Given the description of an element on the screen output the (x, y) to click on. 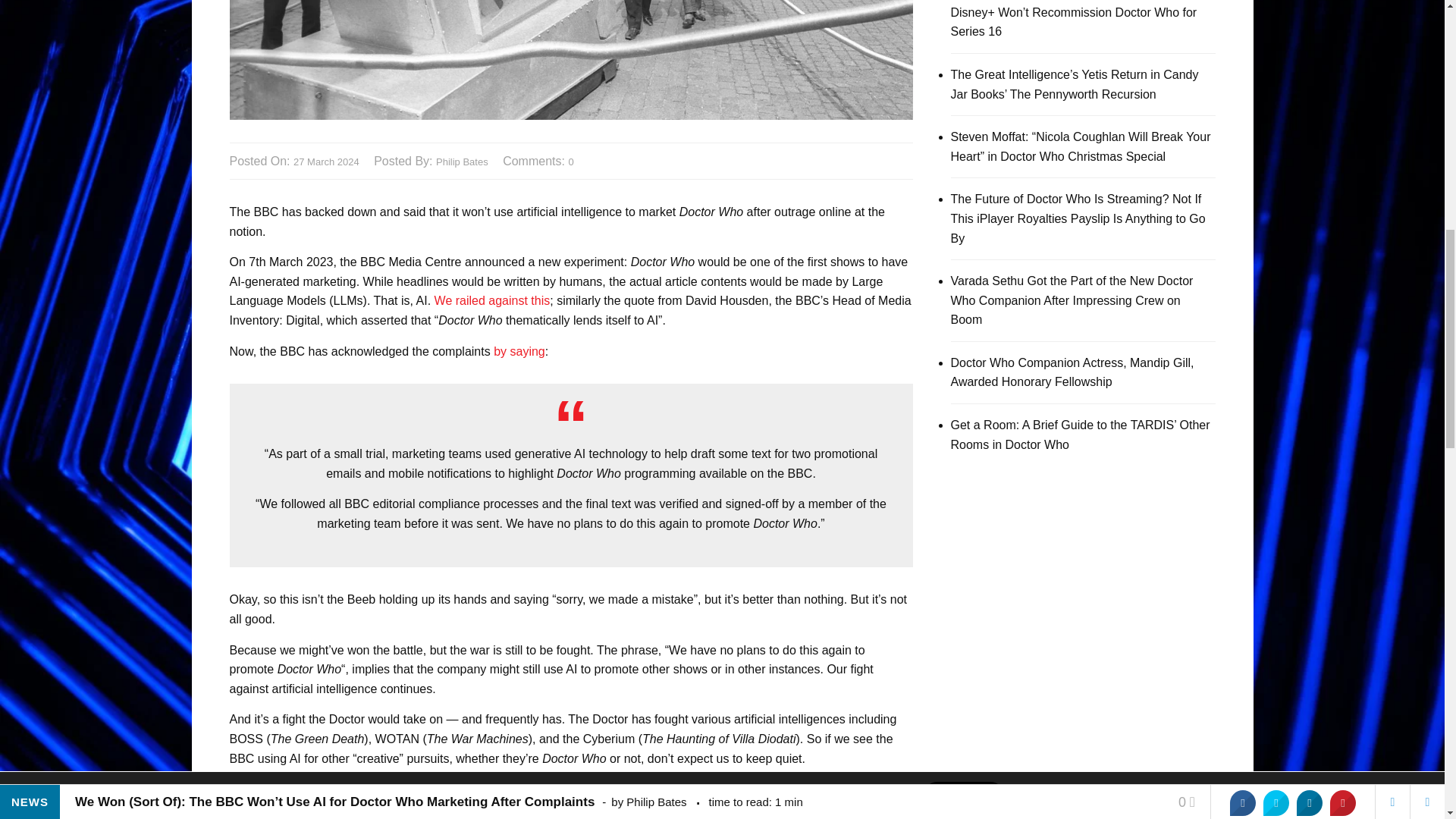
Click to print (422, 814)
Click to share on WhatsApp (392, 814)
Click to share on Facebook (271, 814)
Click to share on Tumblr (301, 814)
Click to share on Pinterest (331, 814)
Click to share on Twitter (240, 814)
Click to share on Reddit (362, 814)
